Given the description of an element on the screen output the (x, y) to click on. 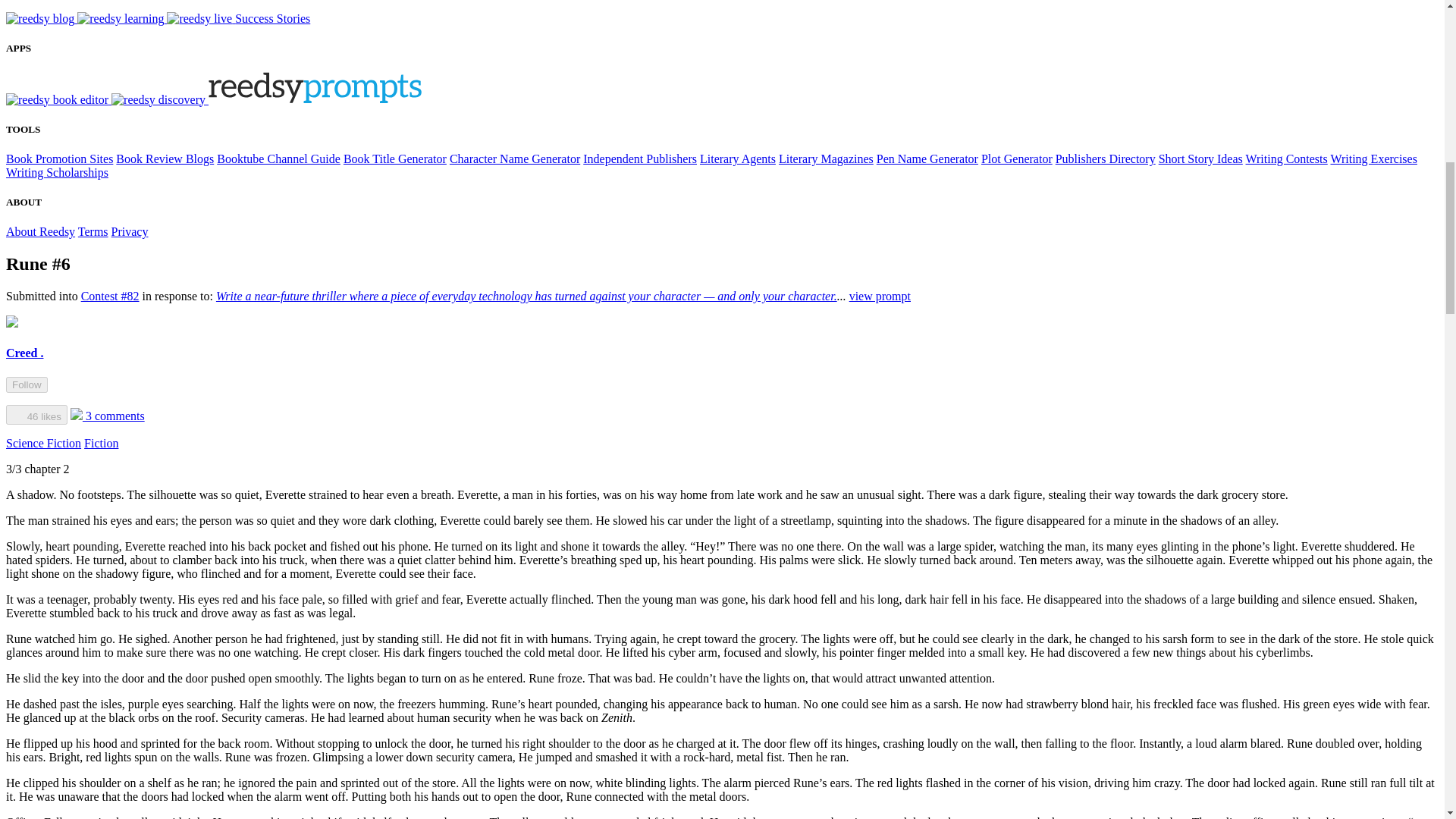
3 comments (106, 415)
